Given the description of an element on the screen output the (x, y) to click on. 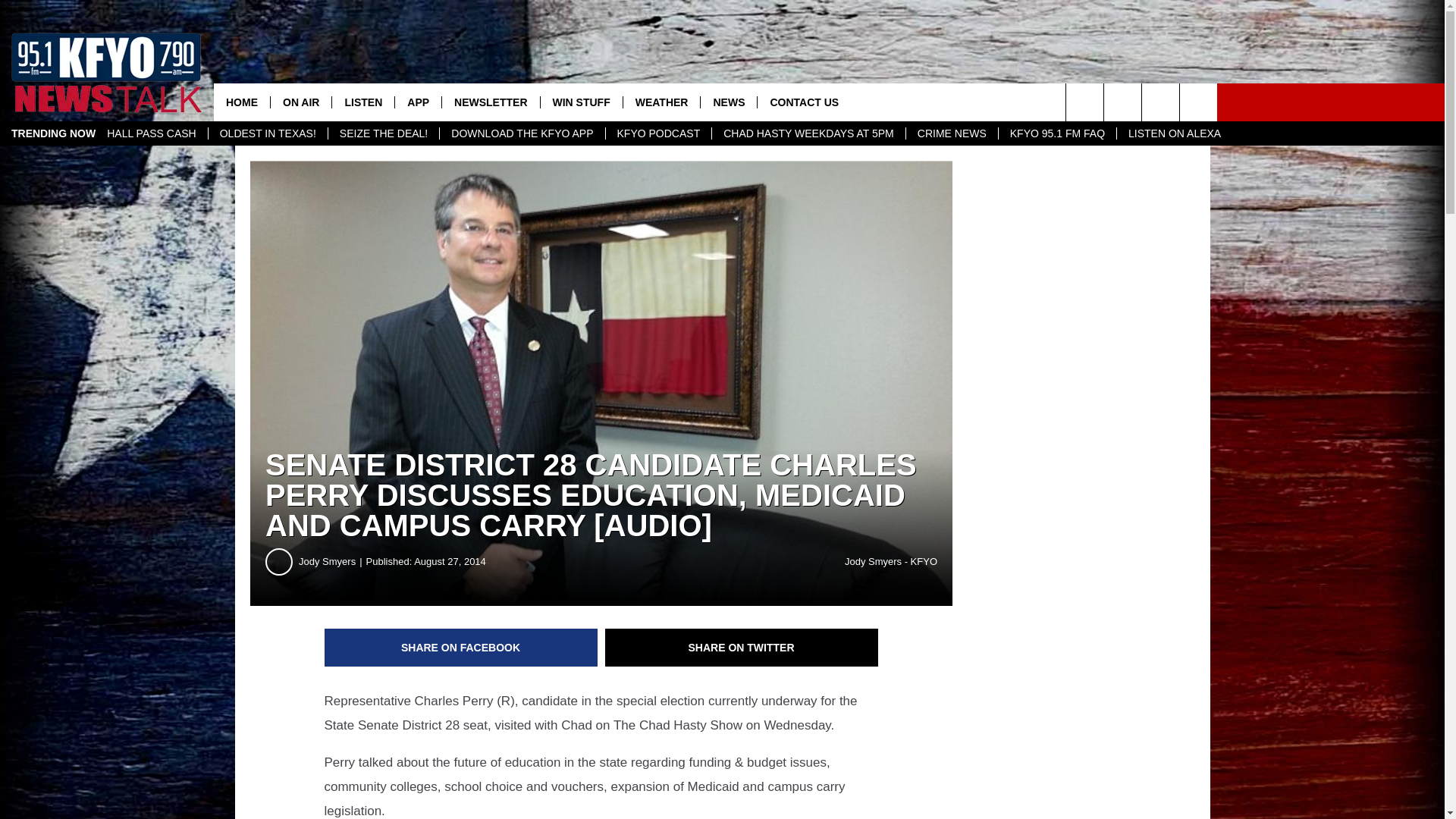
HOME (241, 102)
APP (417, 102)
ON AIR (300, 102)
Share on Twitter (741, 647)
LISTEN (362, 102)
NEWS (728, 102)
SEIZE THE DEAL! (383, 133)
KFYO 95.1 FM FAQ (1056, 133)
Share on Facebook (460, 647)
CRIME NEWS (951, 133)
